Given the description of an element on the screen output the (x, y) to click on. 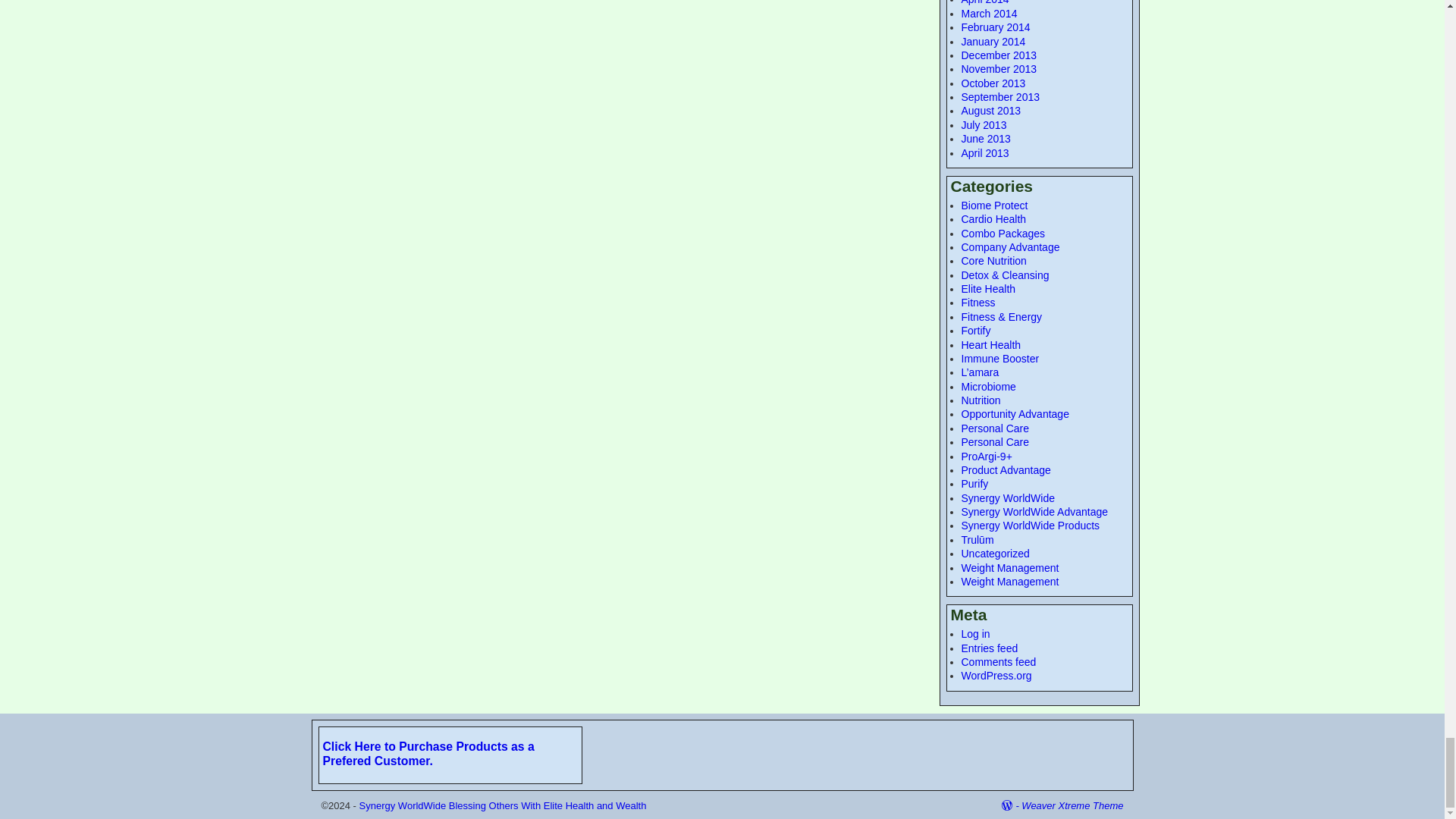
Proudly powered by WordPress (1011, 805)
Weaver Xtreme Theme (1072, 805)
